Given the description of an element on the screen output the (x, y) to click on. 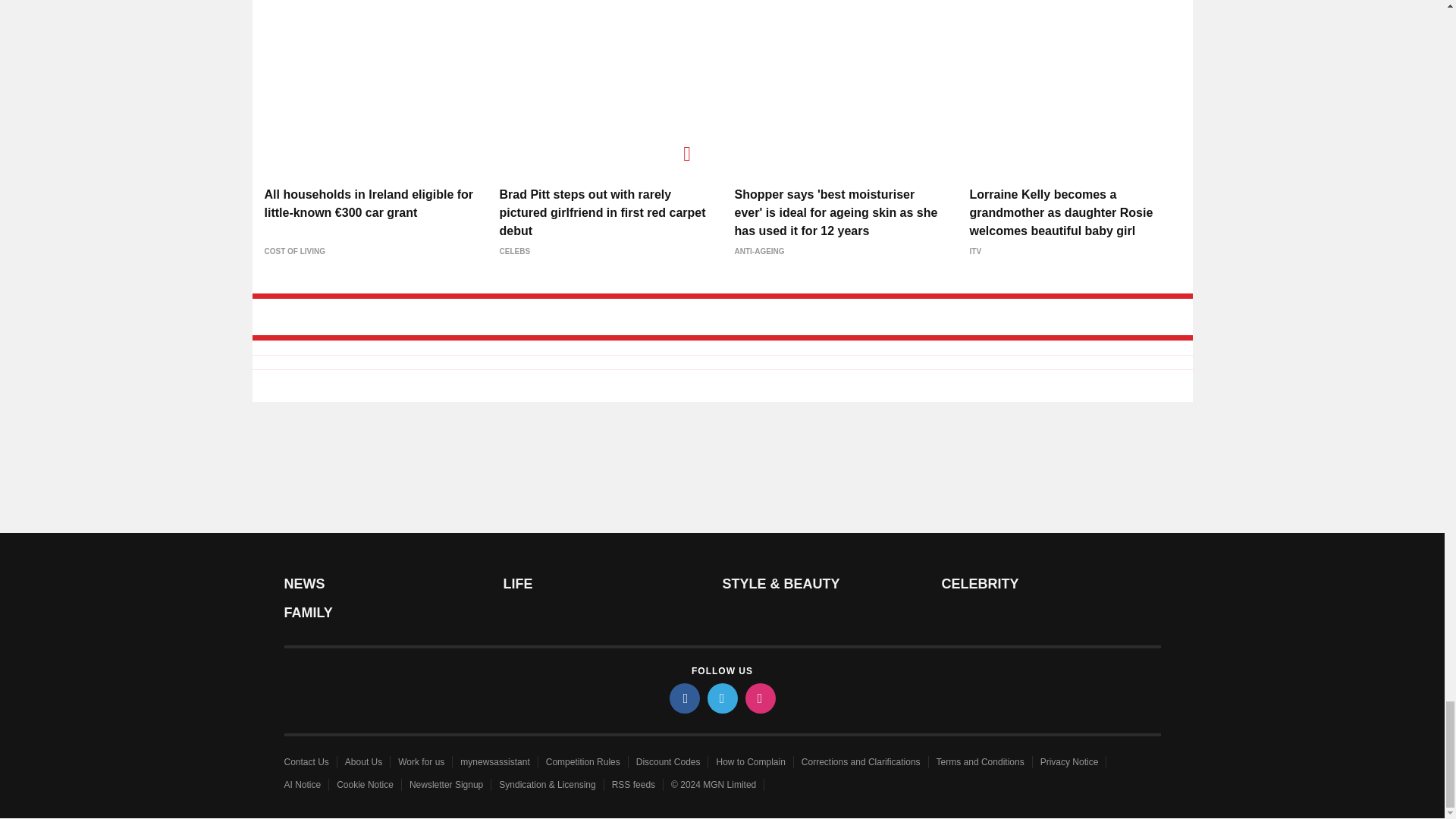
twitter (721, 698)
instagram (759, 698)
facebook (683, 698)
